Given the description of an element on the screen output the (x, y) to click on. 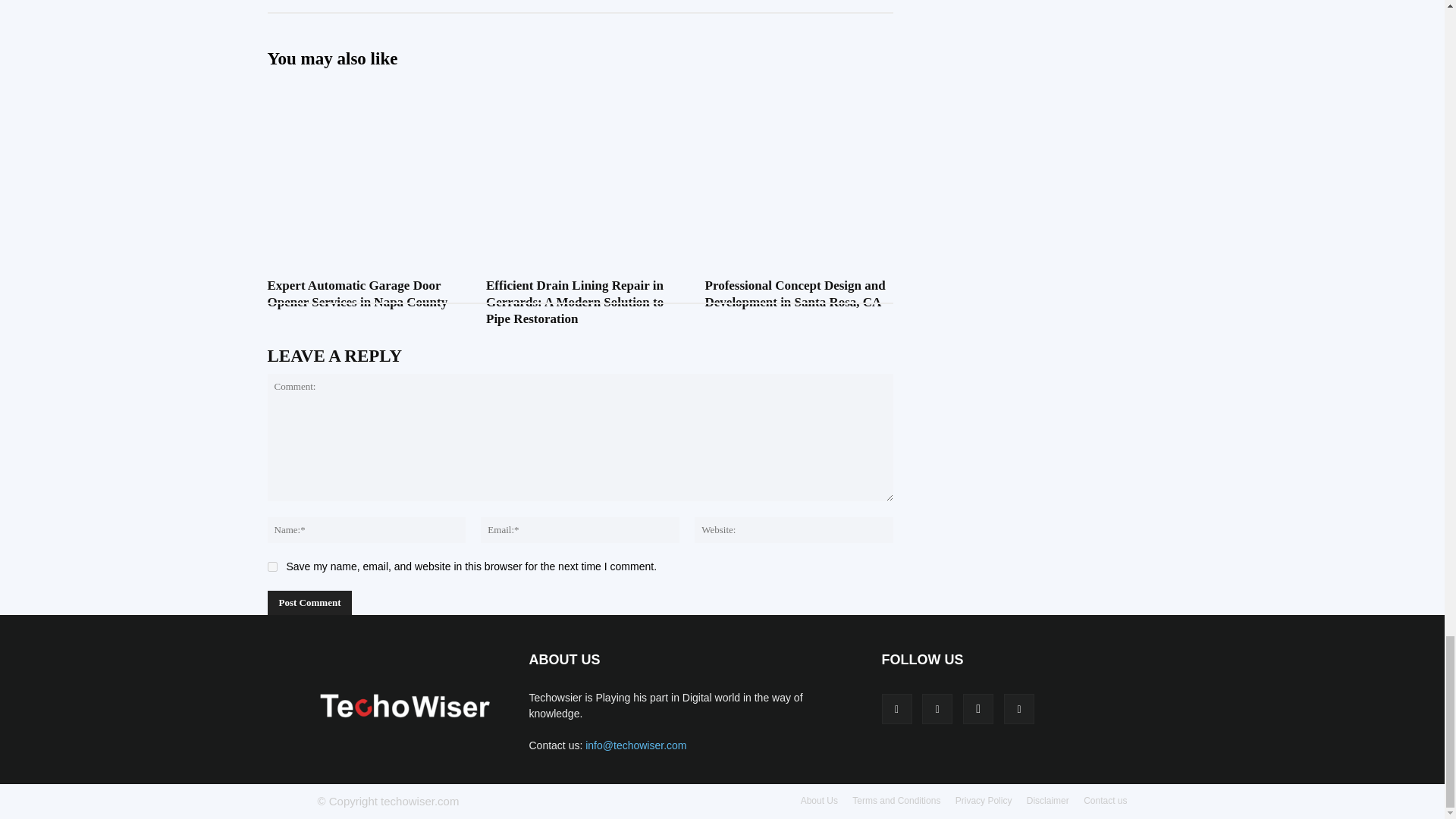
Post Comment (309, 602)
yes (271, 566)
Expert Automatic Garage Door Opener Services in Napa County (360, 150)
Expert Automatic Garage Door Opener Services in Napa County (356, 293)
